Given the description of an element on the screen output the (x, y) to click on. 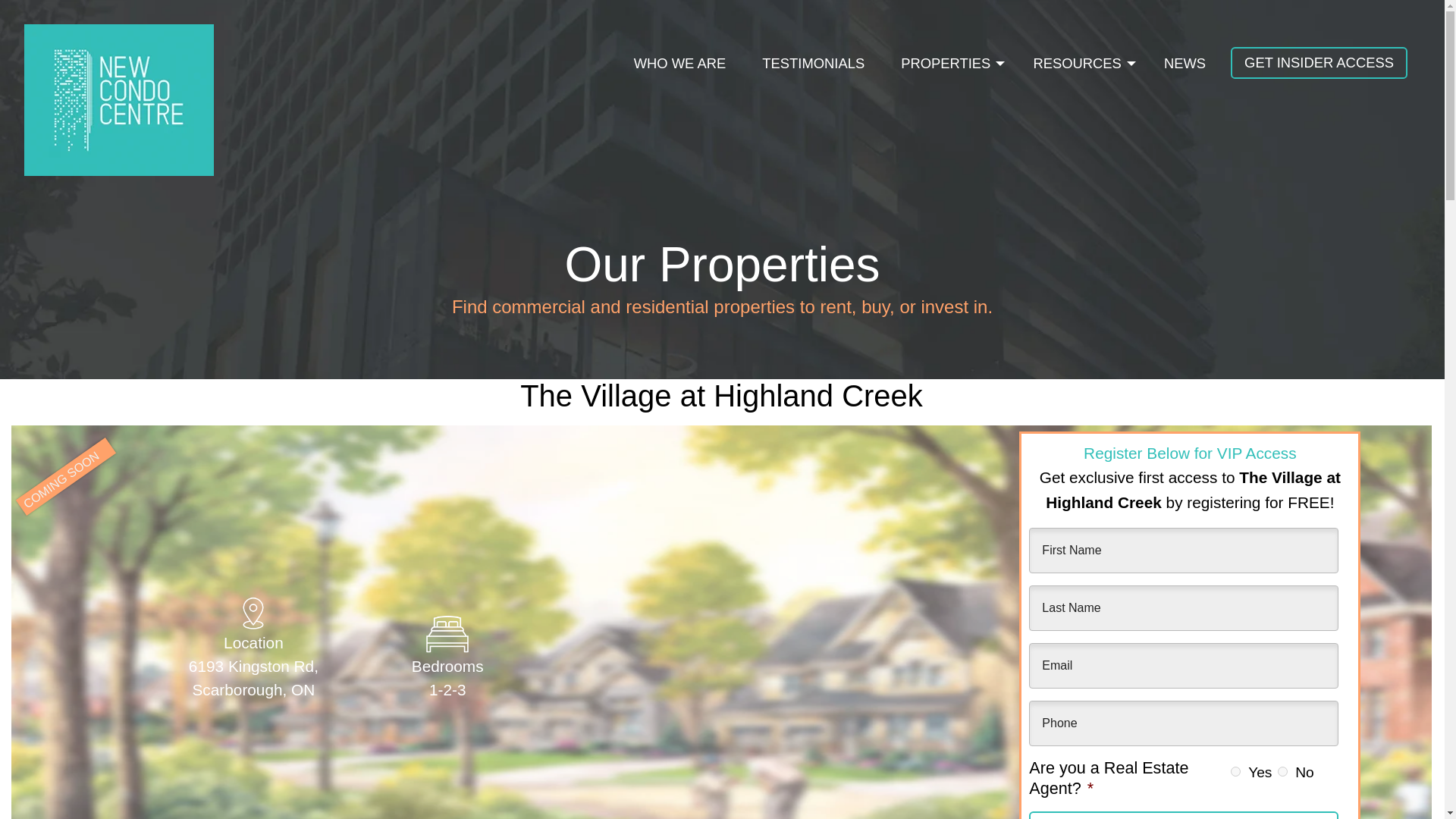
TESTIMONIALS (812, 63)
PROPERTIES (948, 63)
Register Now (1183, 815)
Register Now (1183, 815)
RESOURCES (1080, 63)
NEWS (1184, 63)
Yes (1235, 771)
No (1282, 771)
WHO WE ARE (679, 63)
GET INSIDER ACCESS (1318, 62)
